Given the description of an element on the screen output the (x, y) to click on. 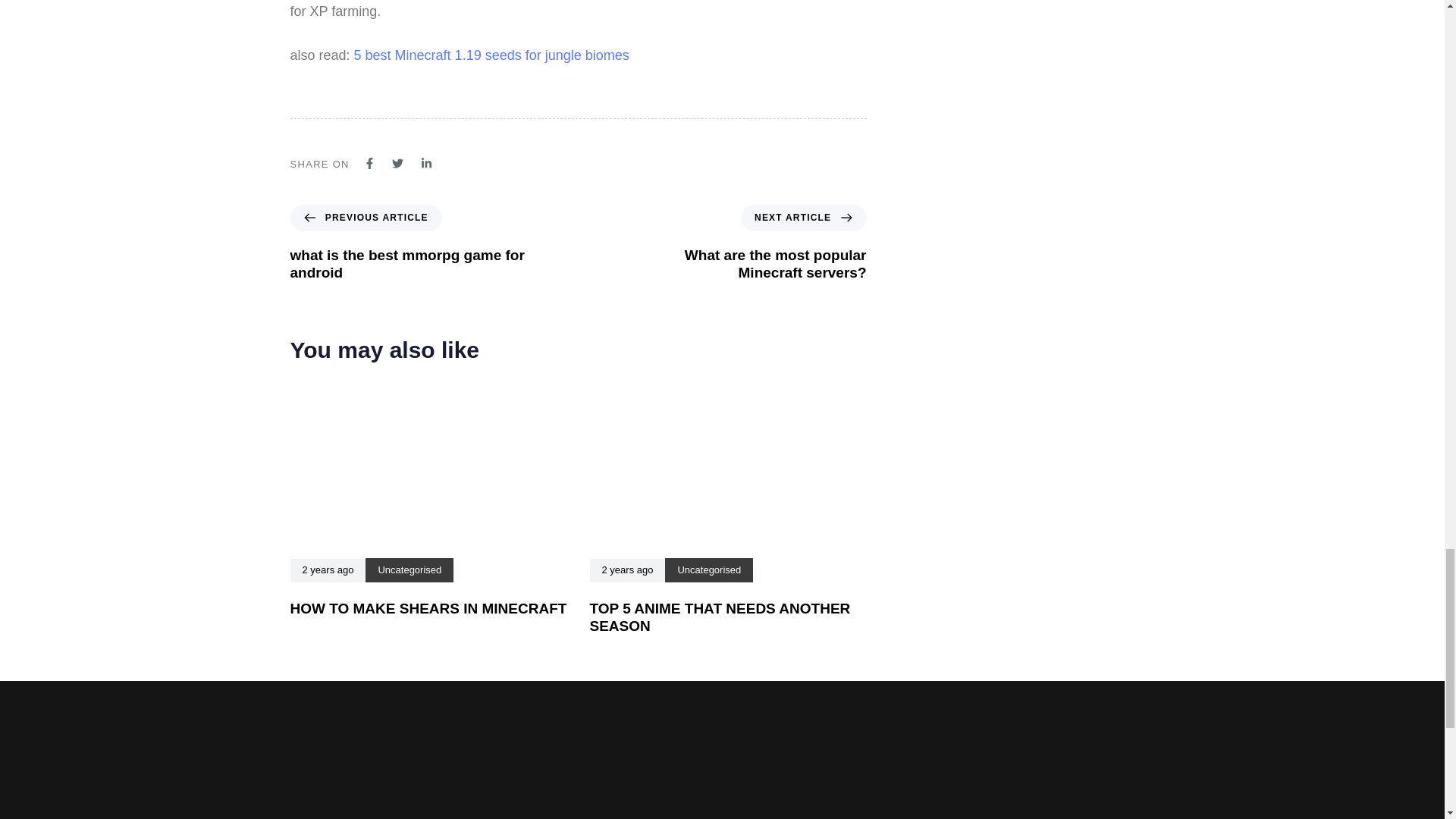
TOP 5 ANIME THAT NEEDS ANOTHER SEASON (742, 242)
5 best Minecraft 1.19 seeds for jungle biomes (719, 616)
Uncategorised (413, 242)
HOW TO MAKE SHEARS IN MINECRAFT (490, 55)
Uncategorised (409, 569)
